Given the description of an element on the screen output the (x, y) to click on. 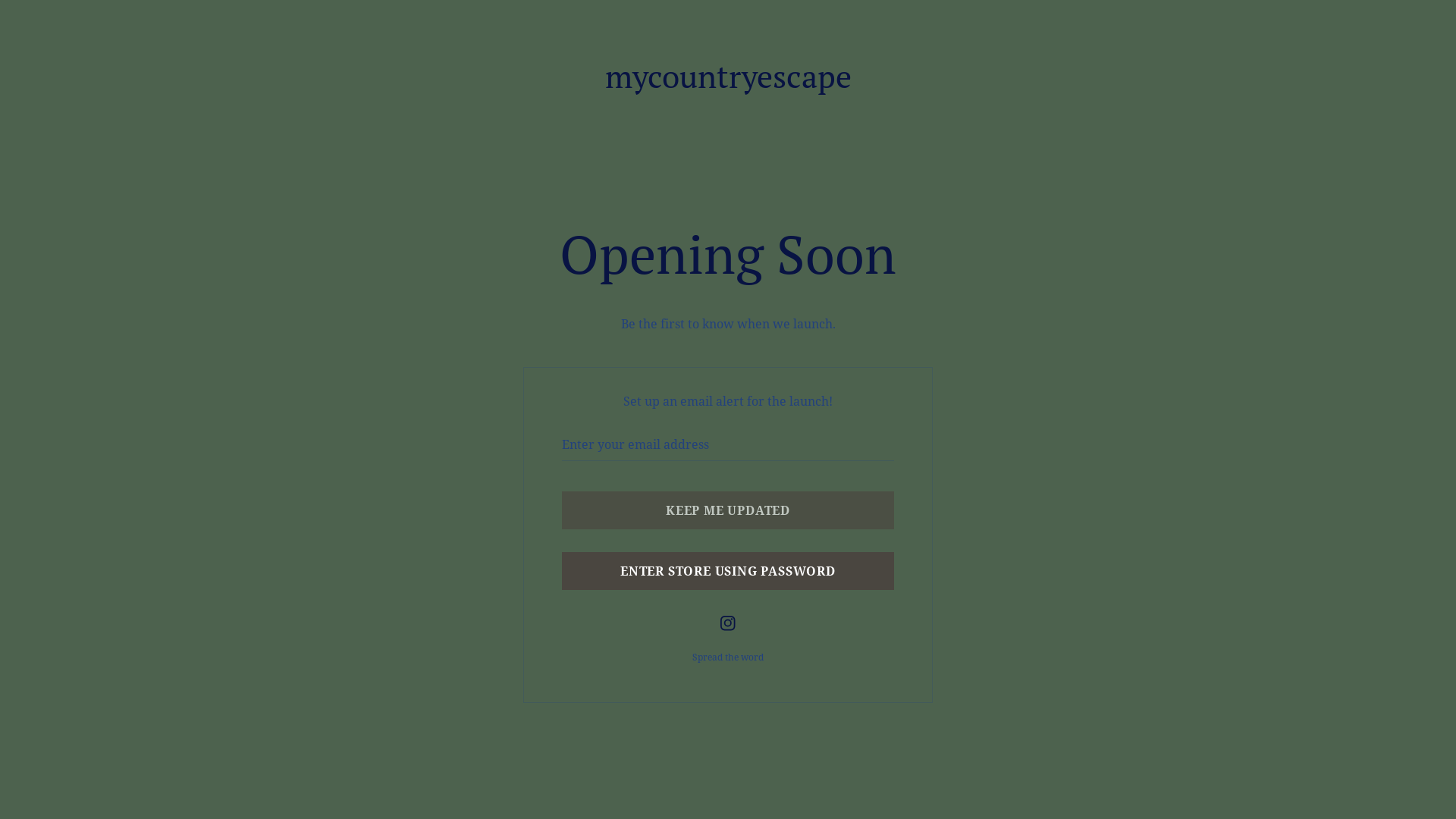
Instagram Element type: text (727, 623)
KEEP ME UPDATED Element type: text (727, 510)
